Given the description of an element on the screen output the (x, y) to click on. 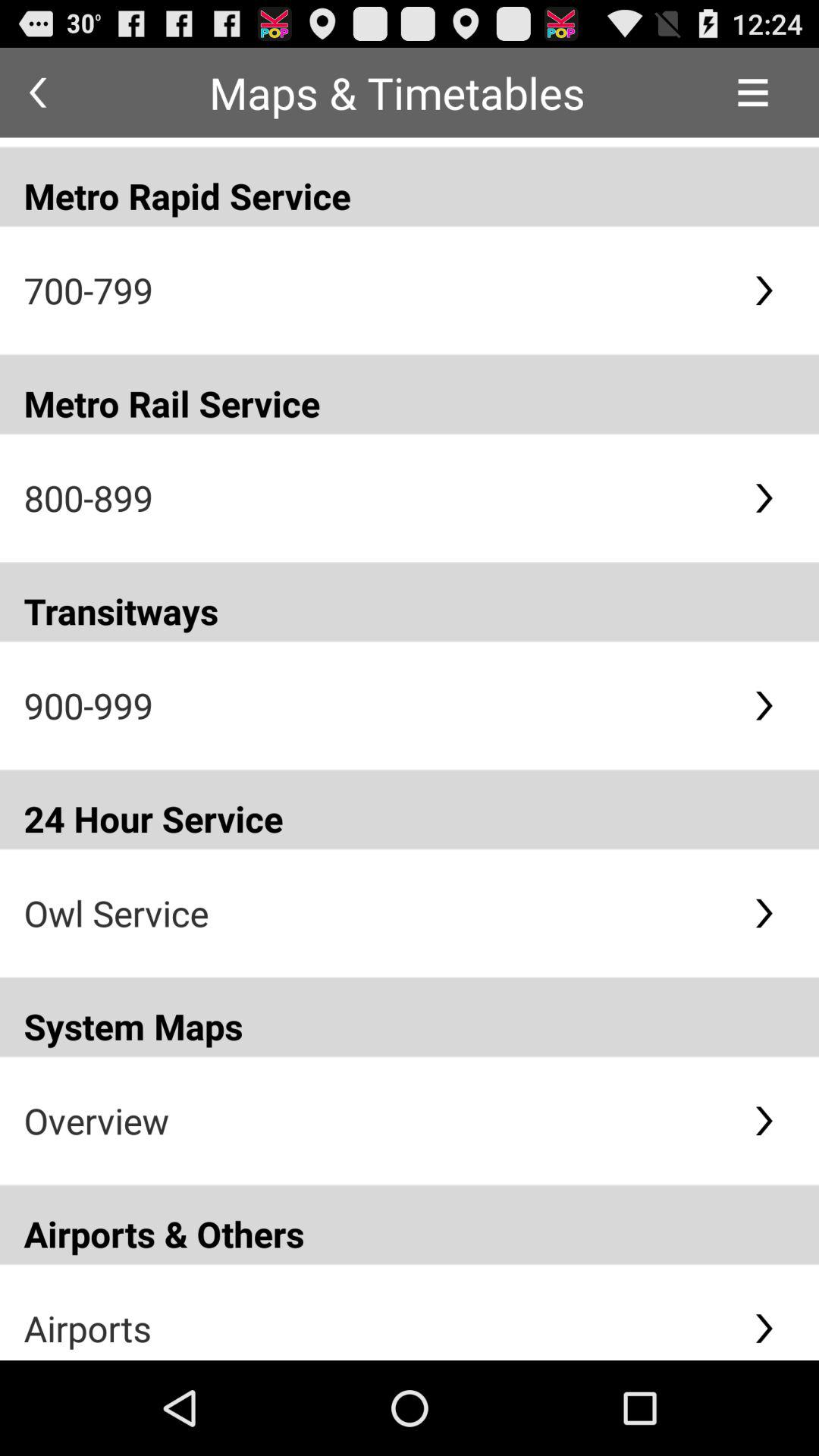
turn off the airports & others app (409, 1224)
